Given the description of an element on the screen output the (x, y) to click on. 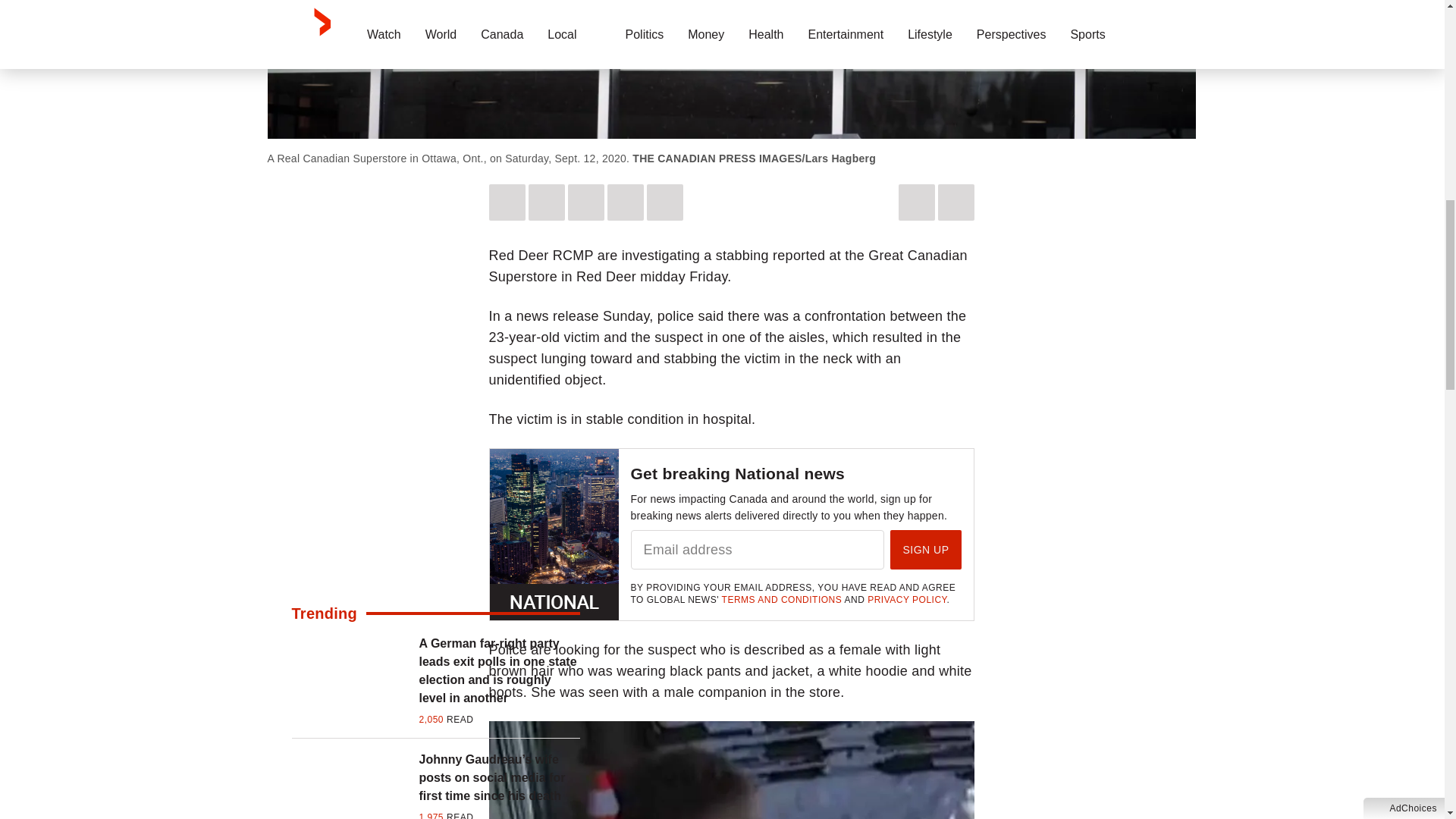
View image in full screen (730, 69)
View image in full screen (730, 770)
